Given the description of an element on the screen output the (x, y) to click on. 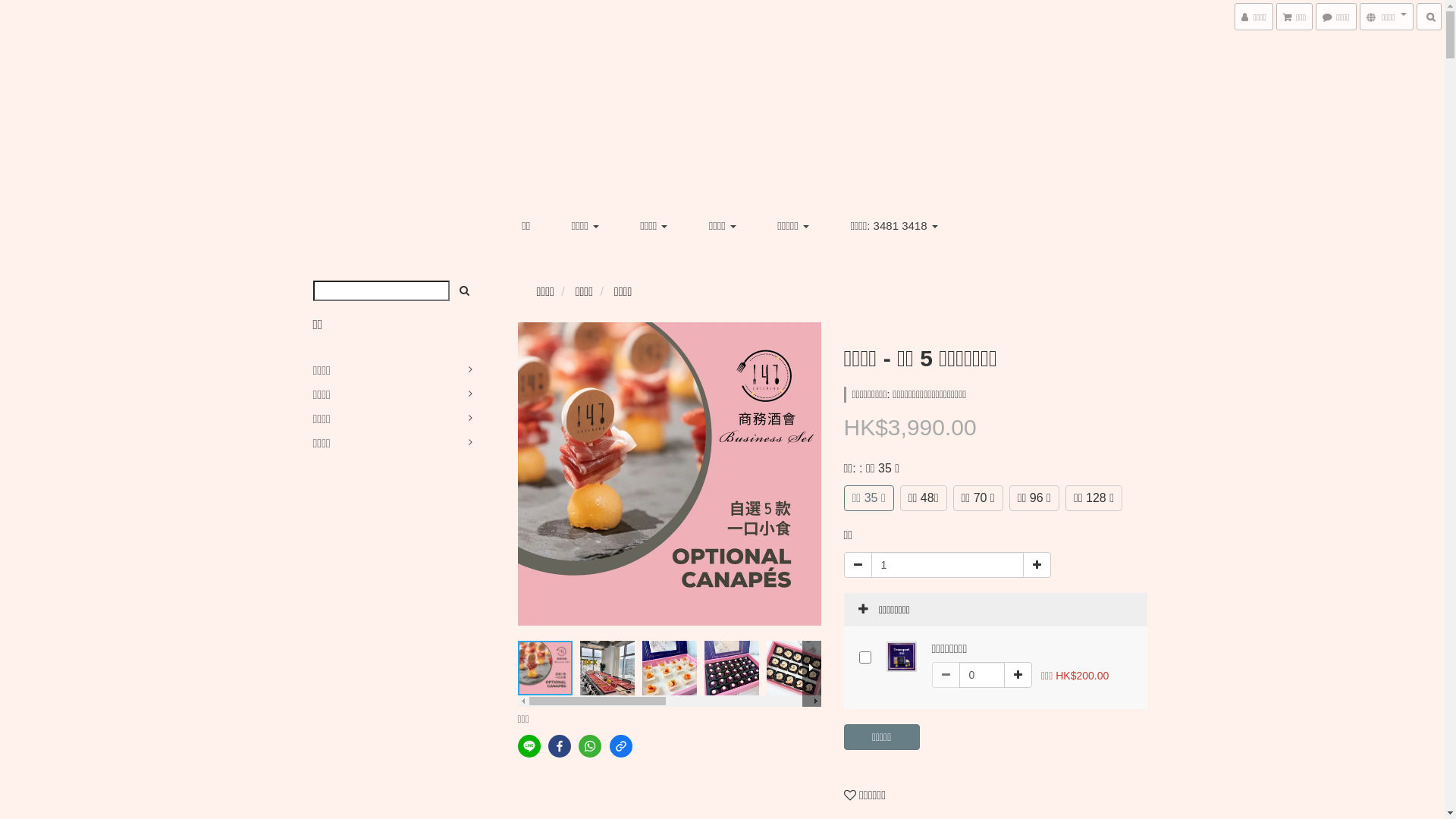
copy link Element type: hover (620, 745)
whatsapp Element type: hover (589, 745)
line Element type: hover (528, 745)
facebook Element type: hover (559, 745)
